Given the description of an element on the screen output the (x, y) to click on. 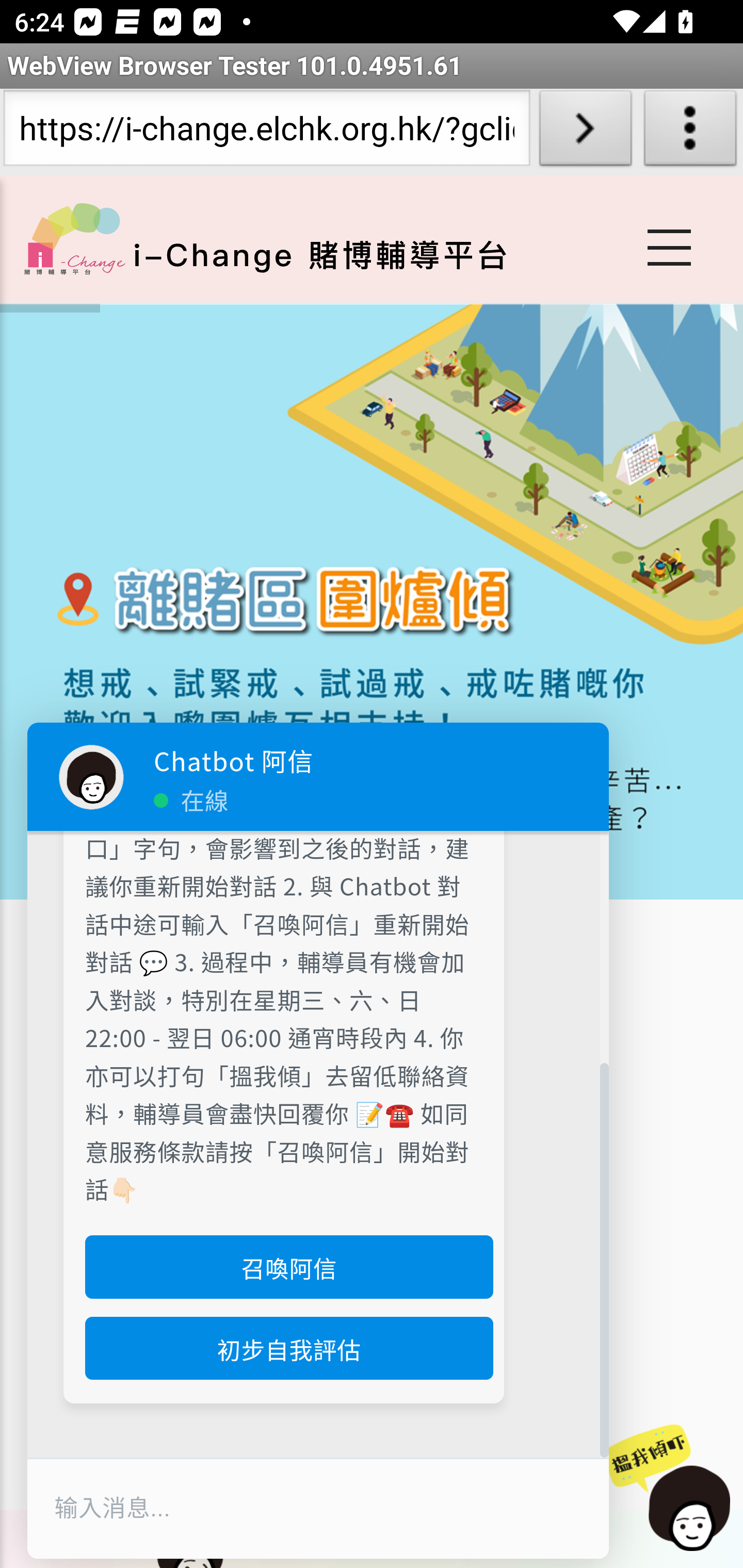
Load URL (585, 132)
About WebView (690, 132)
Home (74, 238)
Chat Now (668, 1488)
